Given the description of an element on the screen output the (x, y) to click on. 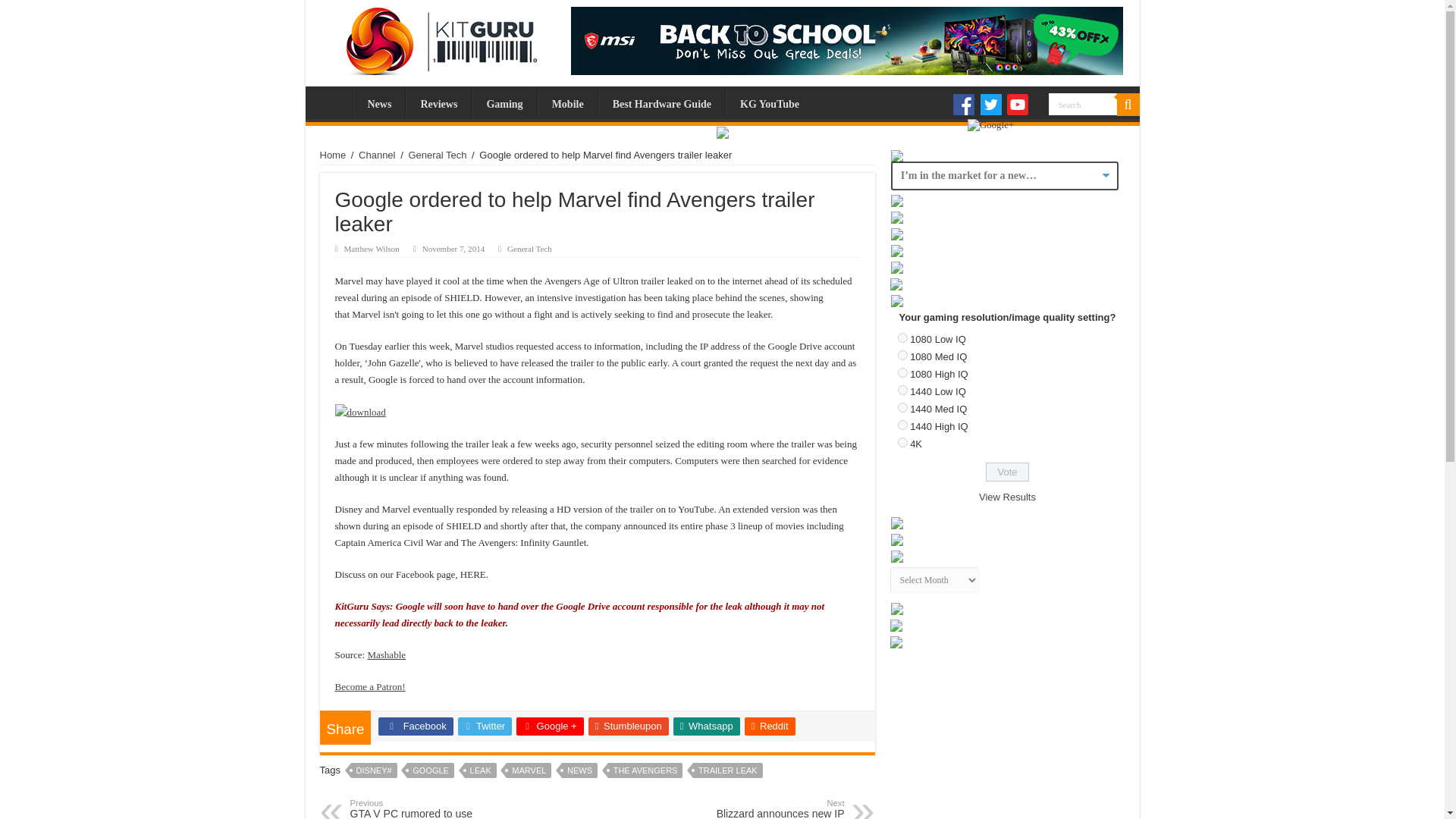
Twitter (990, 104)
KitGuru (437, 37)
Home (333, 154)
Search (1127, 104)
1379 (902, 337)
1384 (902, 424)
Search (1082, 104)
1383 (902, 407)
Stumbleupon (628, 726)
KG YouTube (768, 101)
